Given the description of an element on the screen output the (x, y) to click on. 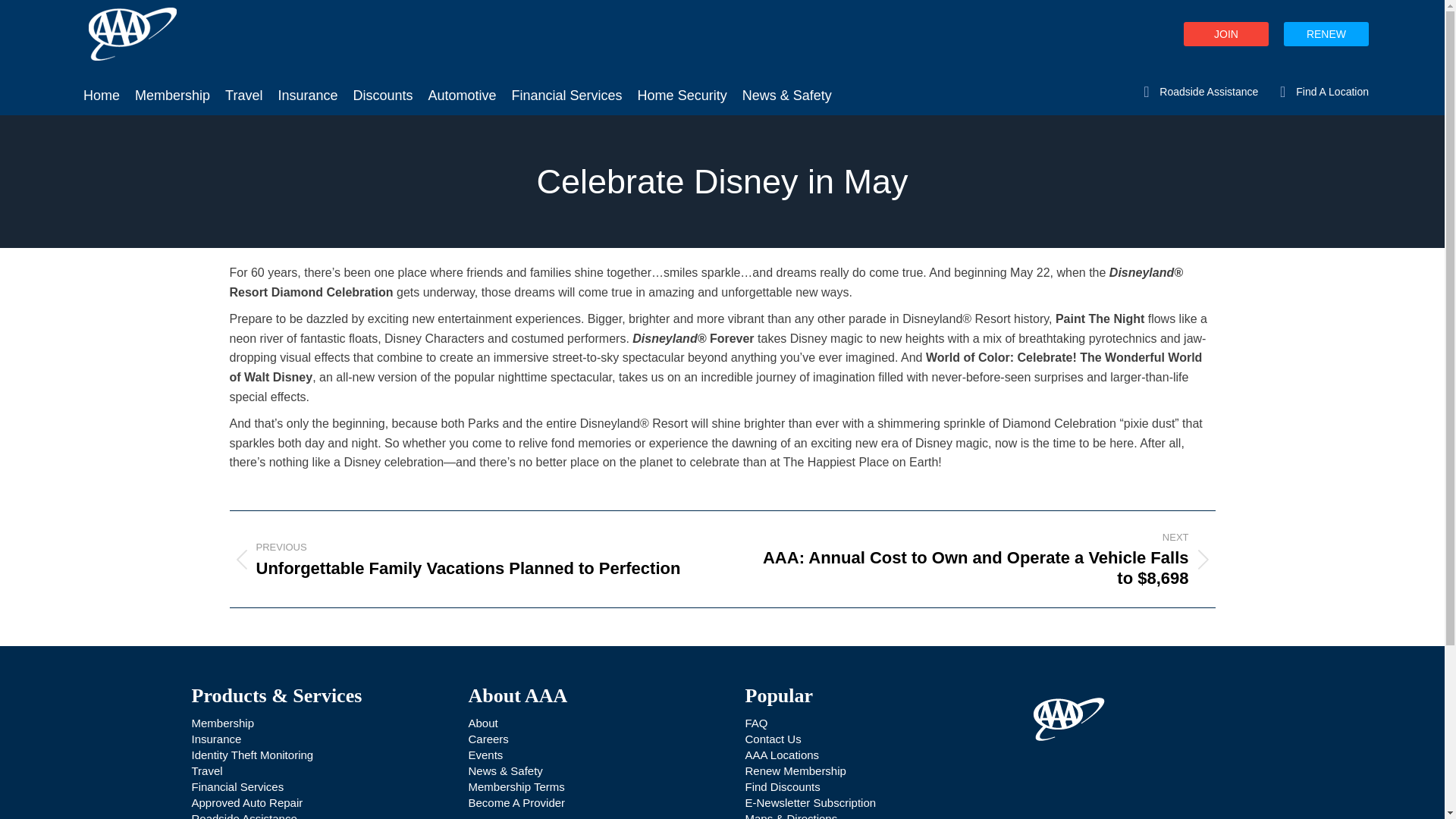
Home Security (682, 85)
Financial Services (566, 85)
Insurance (307, 85)
Insurance (215, 738)
Membership (221, 722)
Find A Location (1320, 91)
Home (101, 85)
Discounts (382, 85)
Roadside Assistance (1197, 91)
Membership (172, 85)
RENEW (1326, 33)
Automotive (461, 85)
Travel (242, 85)
JOIN (1225, 33)
